Given the description of an element on the screen output the (x, y) to click on. 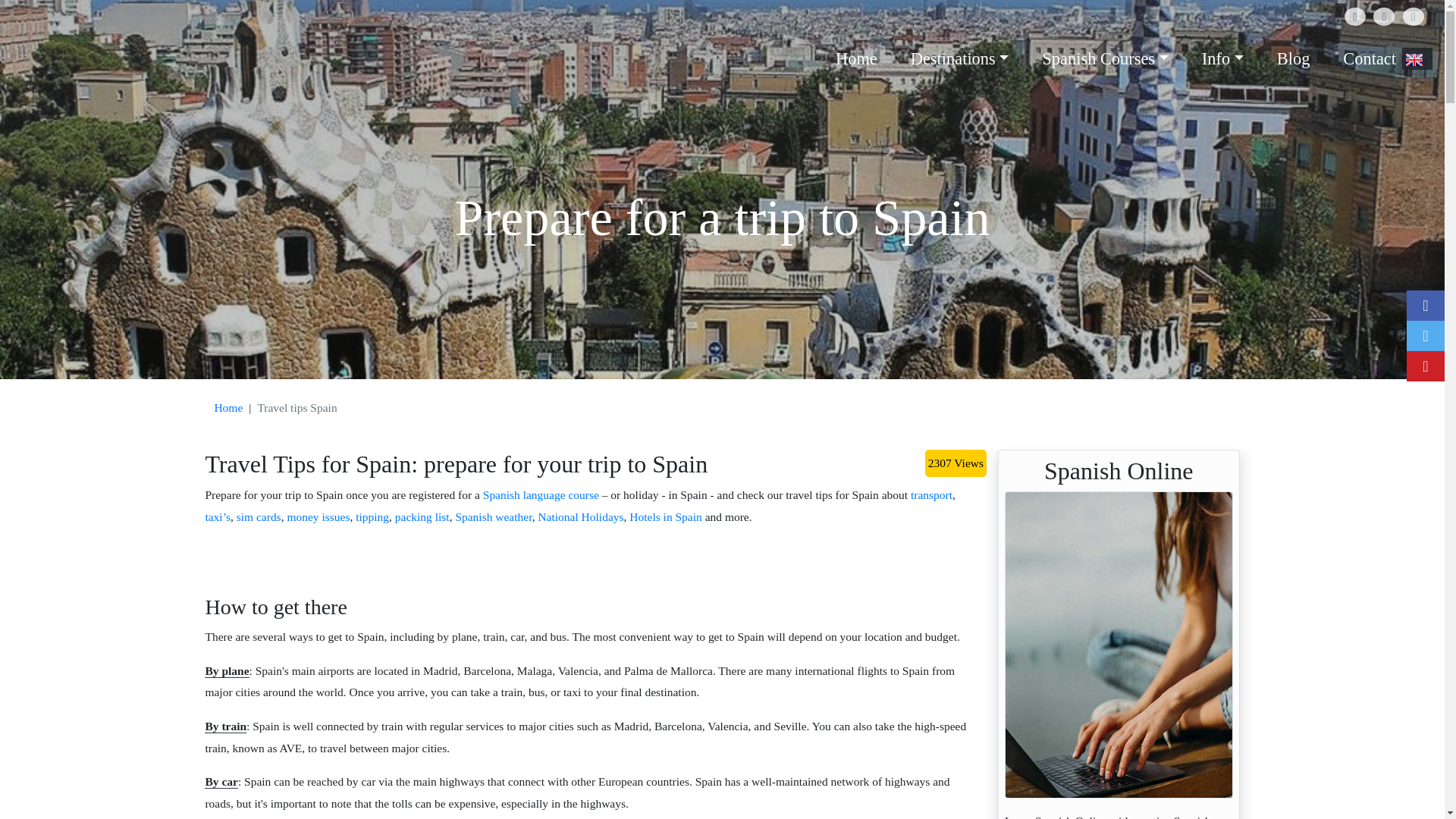
Destinations (959, 58)
Travel tips Spain (296, 407)
Home (228, 407)
Home (856, 58)
